Given the description of an element on the screen output the (x, y) to click on. 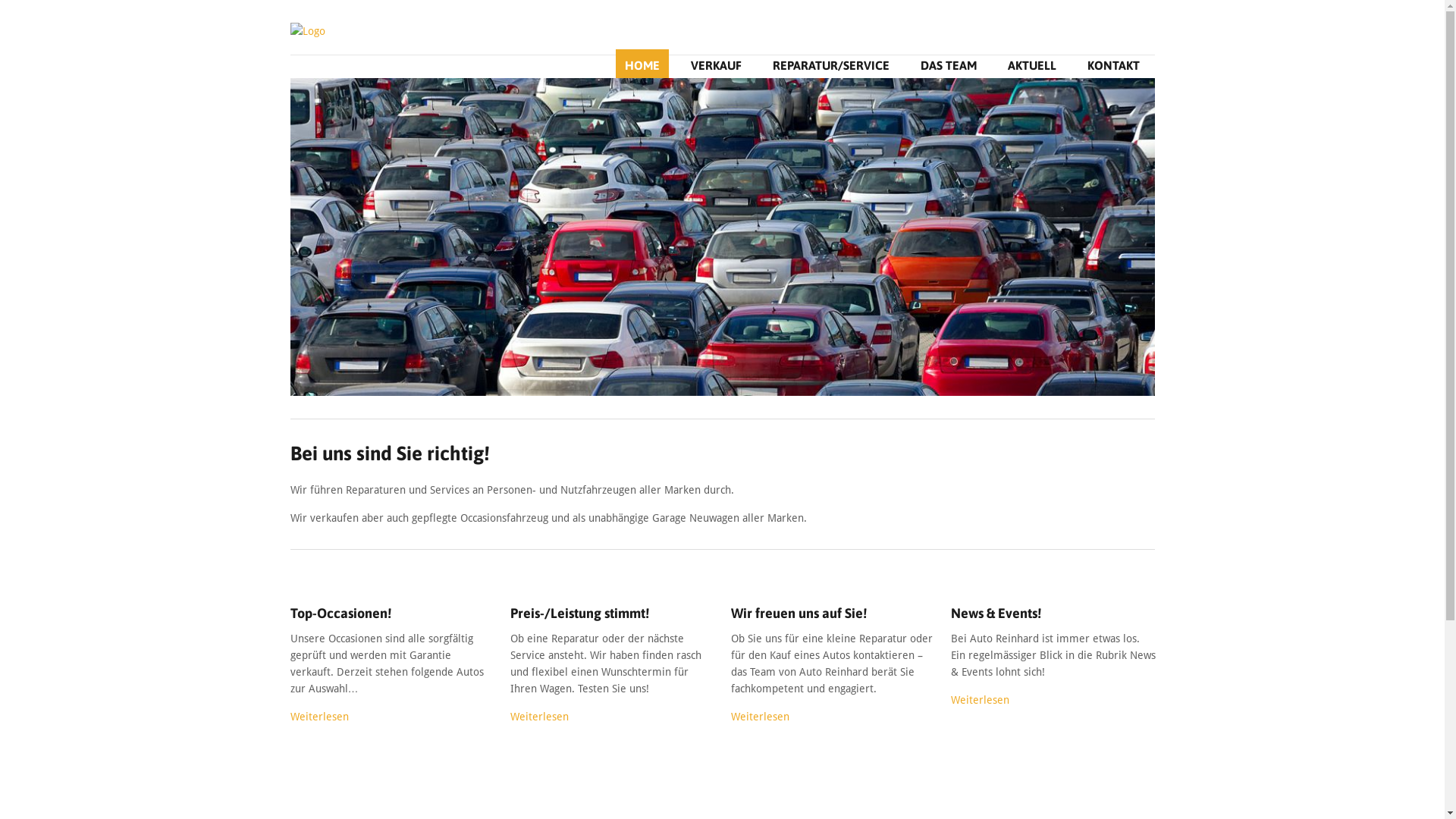
Weiterlesen Element type: text (979, 699)
Weiterlesen Element type: text (539, 716)
HOME Element type: text (641, 65)
REPARATUR/SERVICE Element type: text (829, 65)
AKTUELL Element type: text (1030, 65)
VERKAUF Element type: text (714, 65)
Weiterlesen Element type: text (318, 716)
KONTAKT Element type: text (1113, 65)
Weiterlesen Element type: text (760, 716)
DAS TEAM Element type: text (948, 65)
